Given the description of an element on the screen output the (x, y) to click on. 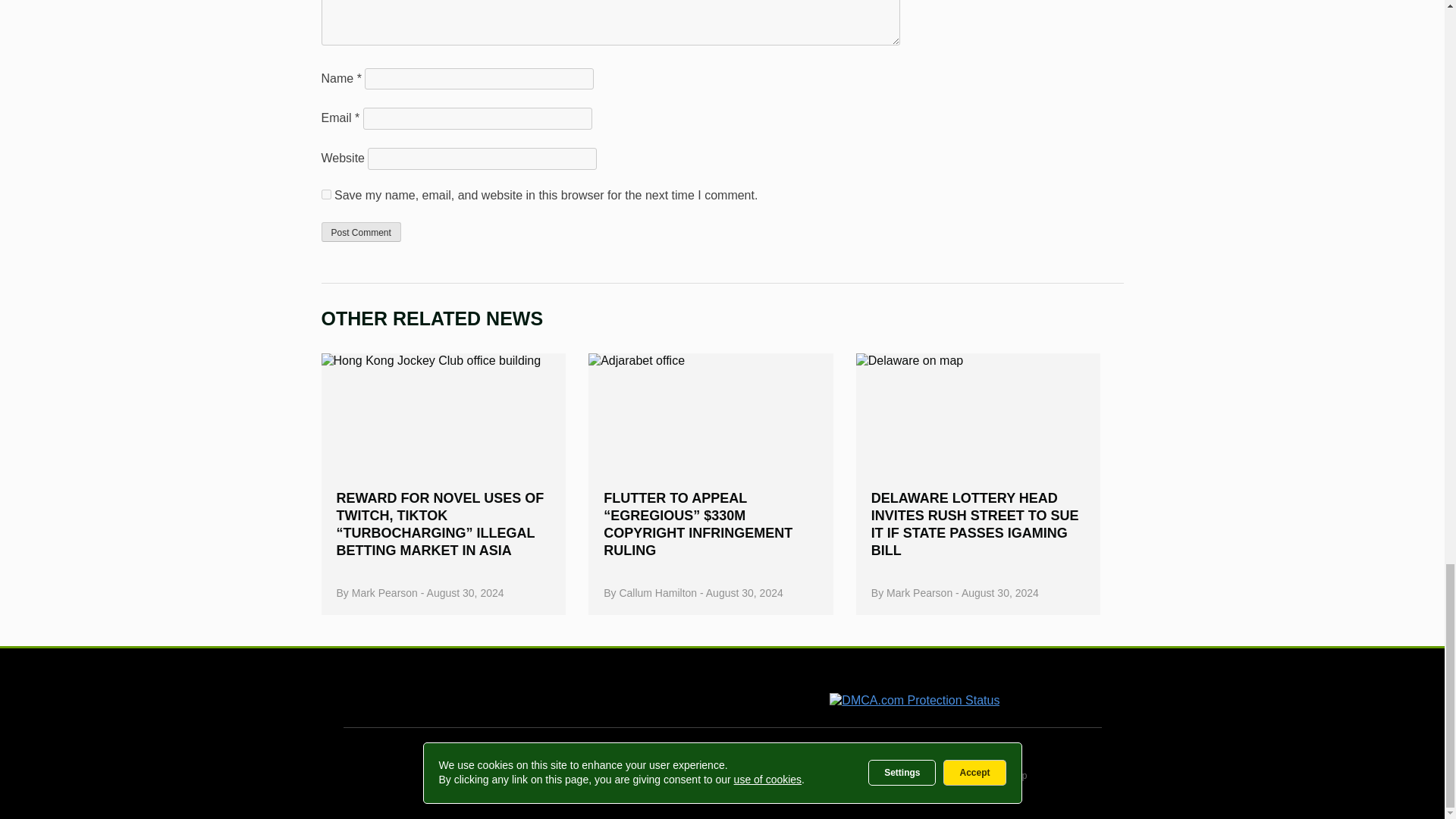
Post Comment (361, 231)
Gambleaware (633, 692)
Gamcare (496, 693)
yes (326, 194)
Ecogra (744, 692)
DMCA.com Protection Status (913, 699)
Post Comment (361, 231)
